Given the description of an element on the screen output the (x, y) to click on. 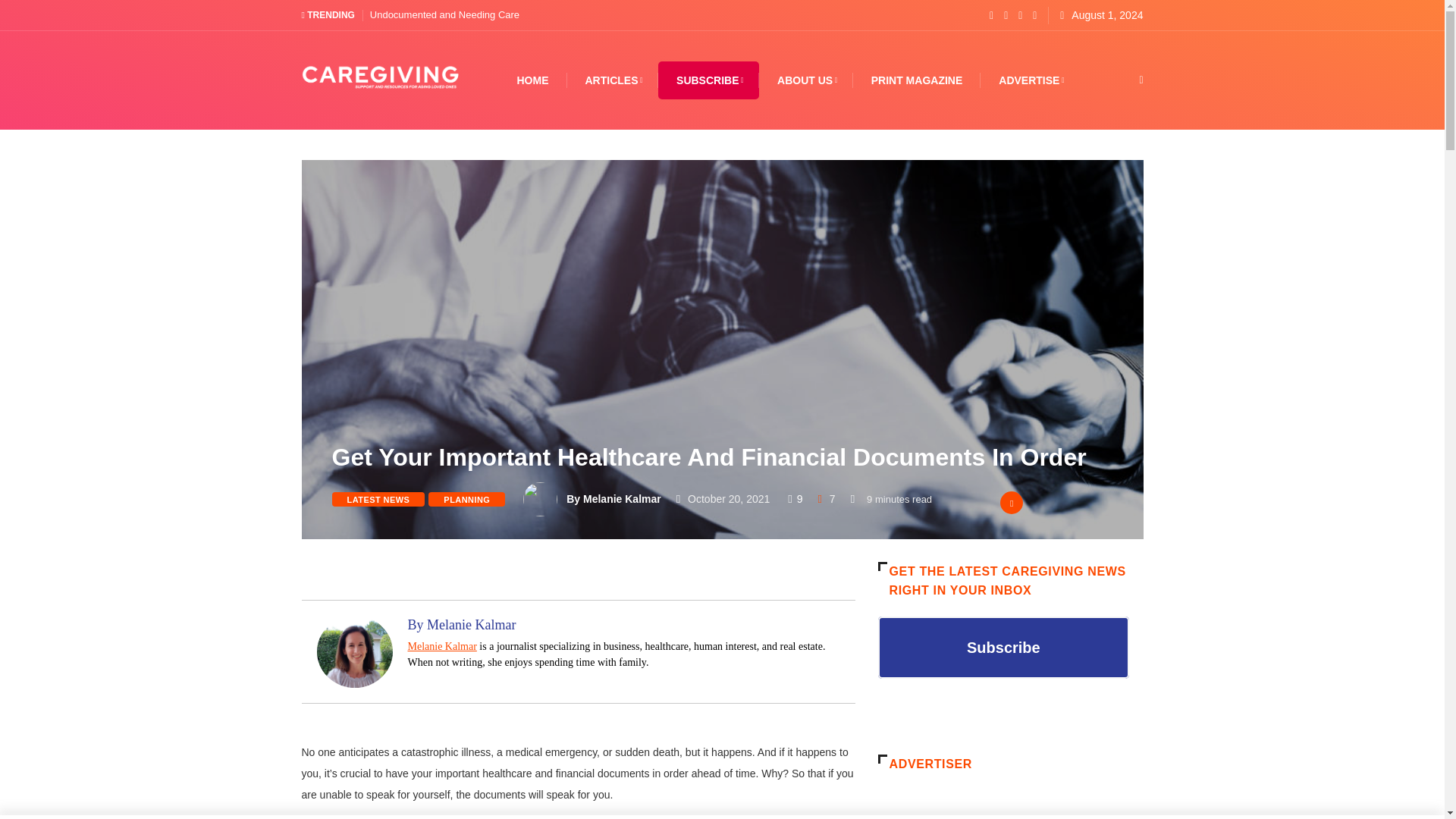
popup modal for search (1117, 80)
PRINT MAGAZINE (916, 80)
Undocumented and Needing Care (444, 14)
By Melanie Kalmar (613, 499)
PLANNING (466, 498)
LATEST NEWS (378, 498)
